Given the description of an element on the screen output the (x, y) to click on. 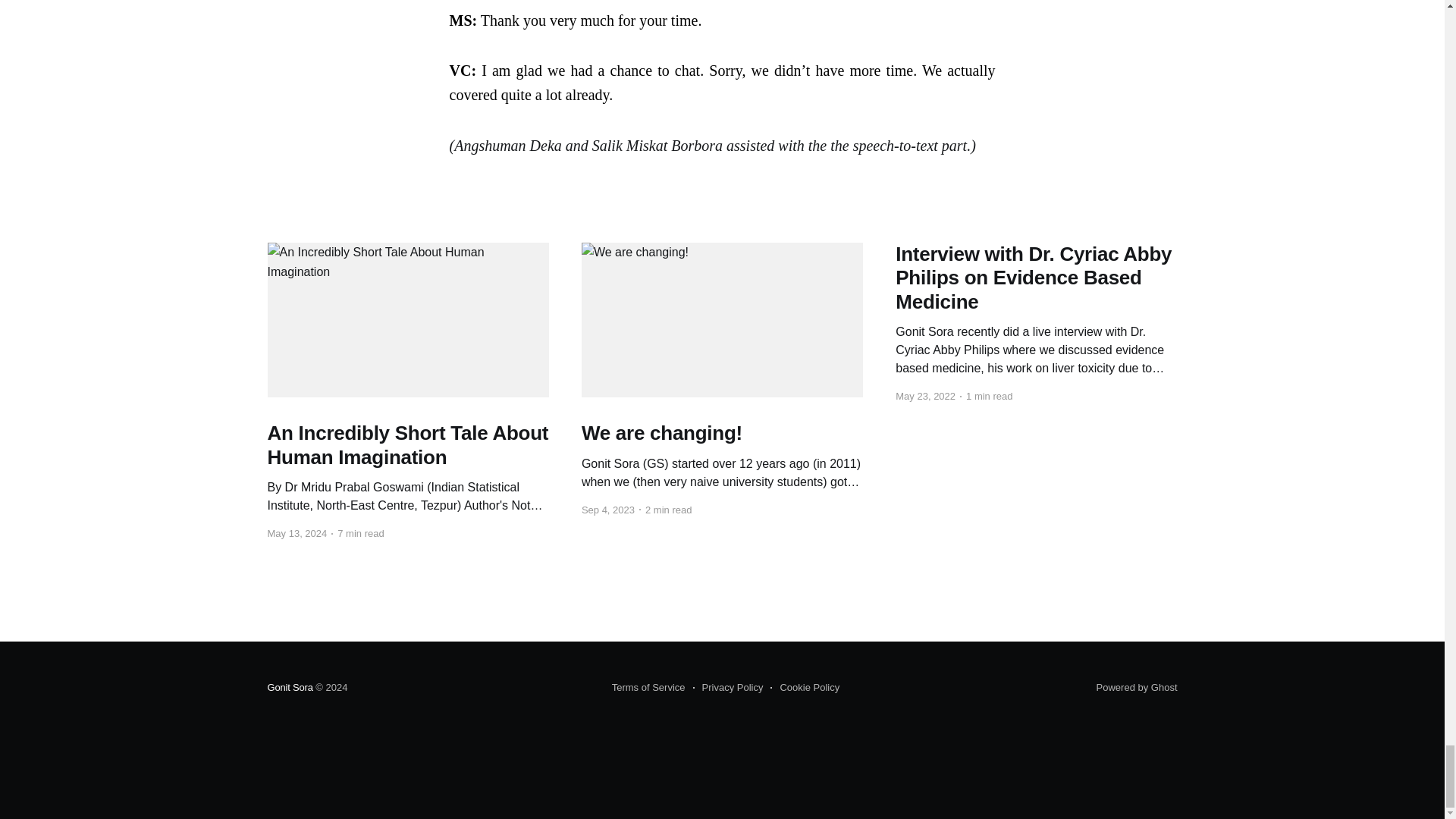
Cookie Policy (805, 687)
Powered by Ghost (1136, 686)
Terms of Service (648, 687)
Gonit Sora (289, 686)
Privacy Policy (727, 687)
